Given the description of an element on the screen output the (x, y) to click on. 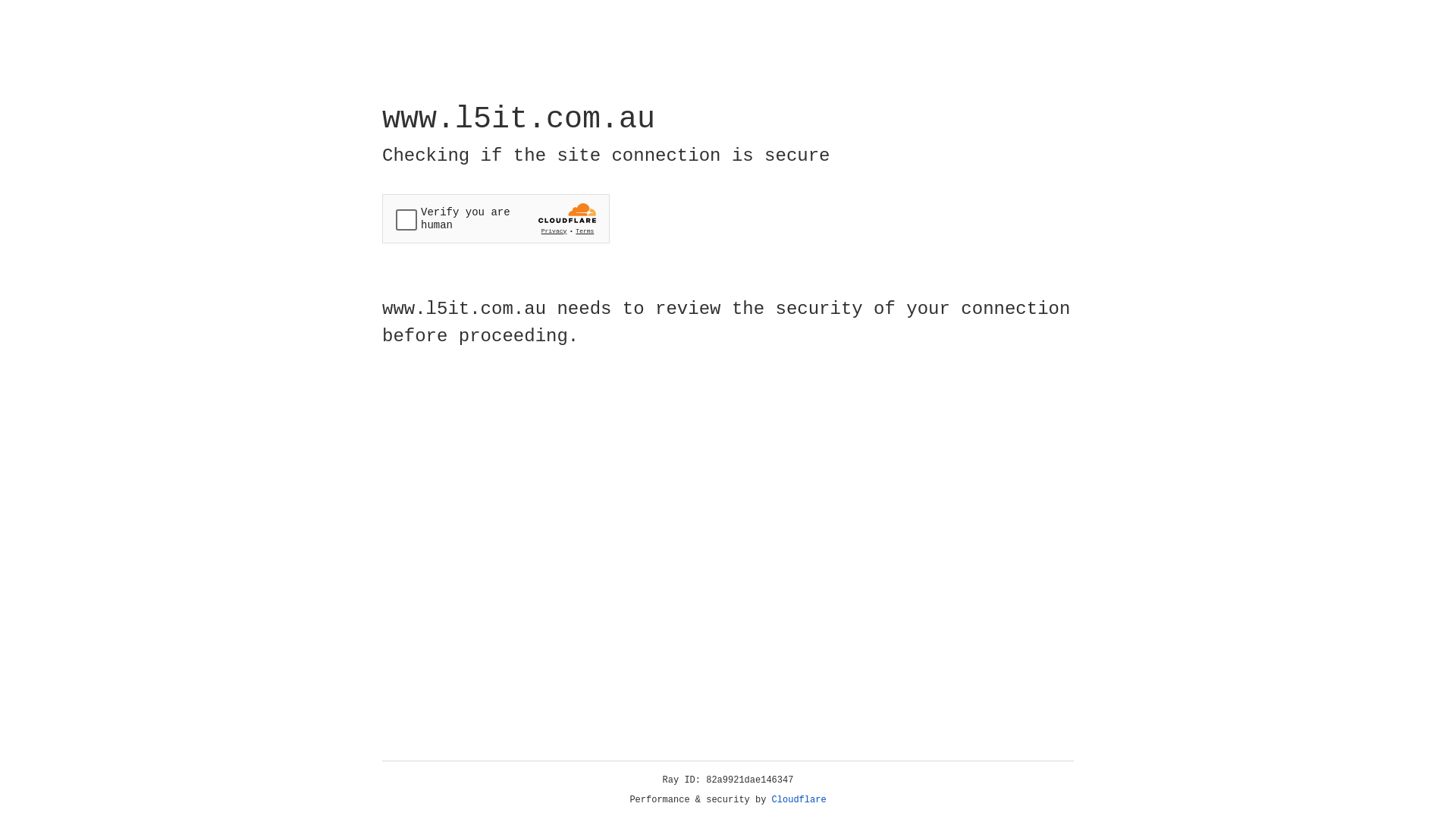
Cloudflare Element type: text (798, 799)
Widget containing a Cloudflare security challenge Element type: hover (495, 218)
